Given the description of an element on the screen output the (x, y) to click on. 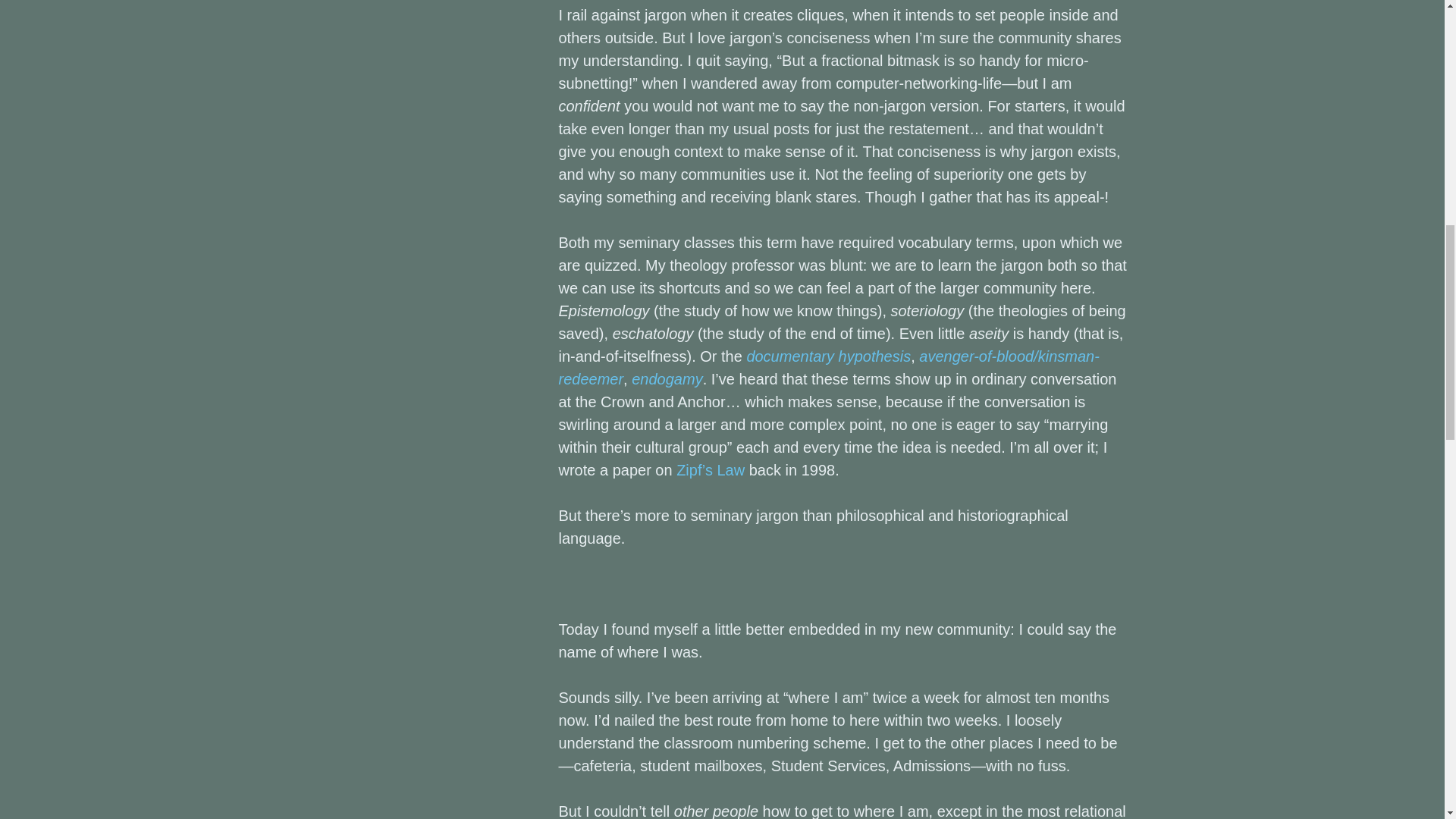
documentary hypothesis (828, 356)
endogamy (666, 379)
